Given the description of an element on the screen output the (x, y) to click on. 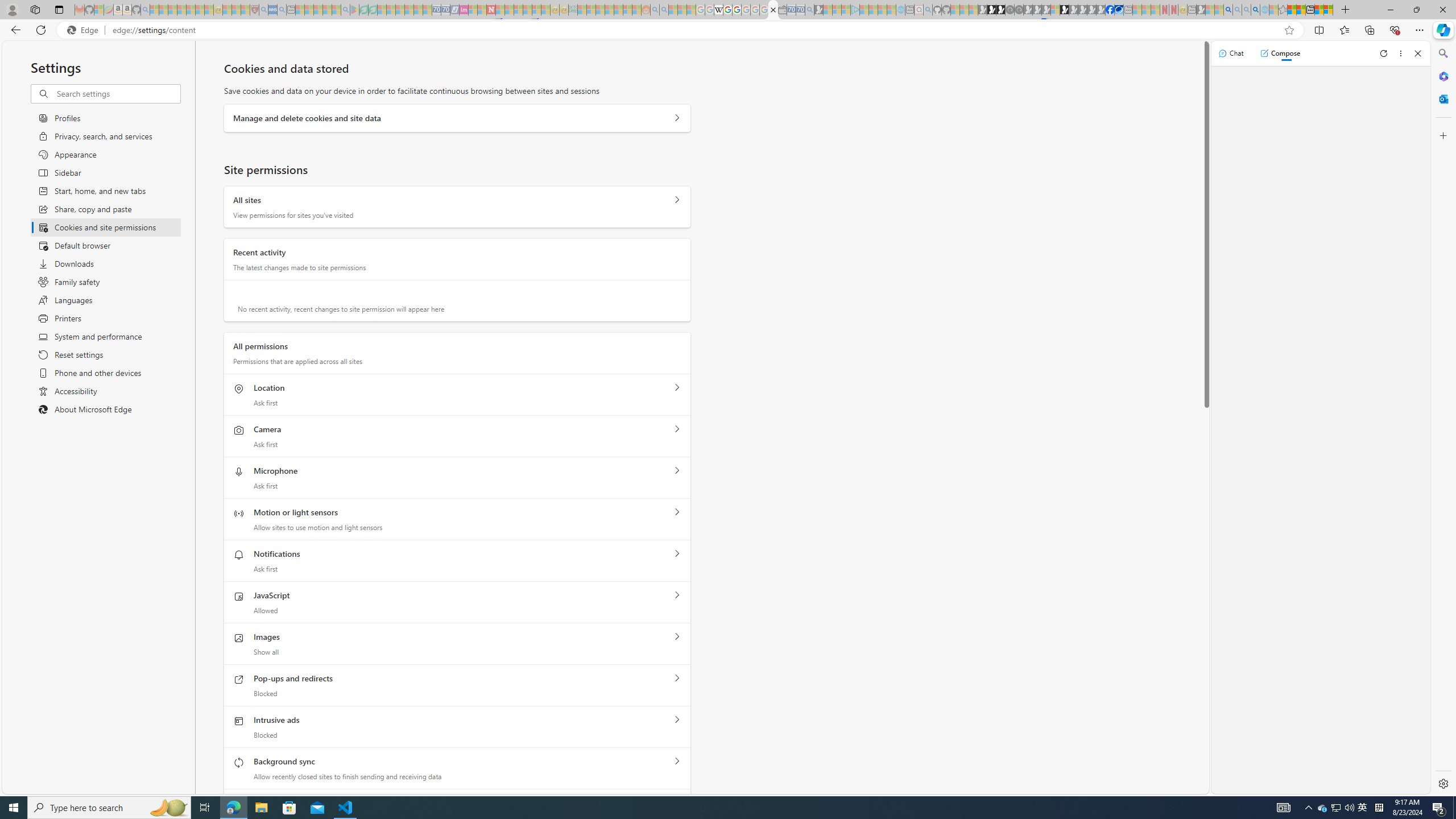
Terms of Use Agreement - Sleeping (362, 9)
Pets - MSN - Sleeping (326, 9)
Cheap Hotels - Save70.com - Sleeping (445, 9)
Google Chrome Internet Browser Download - Search Images (1255, 9)
Privacy Help Center - Policies Help (726, 9)
14 Common Myths Debunked By Scientific Facts - Sleeping (508, 9)
